Given the description of an element on the screen output the (x, y) to click on. 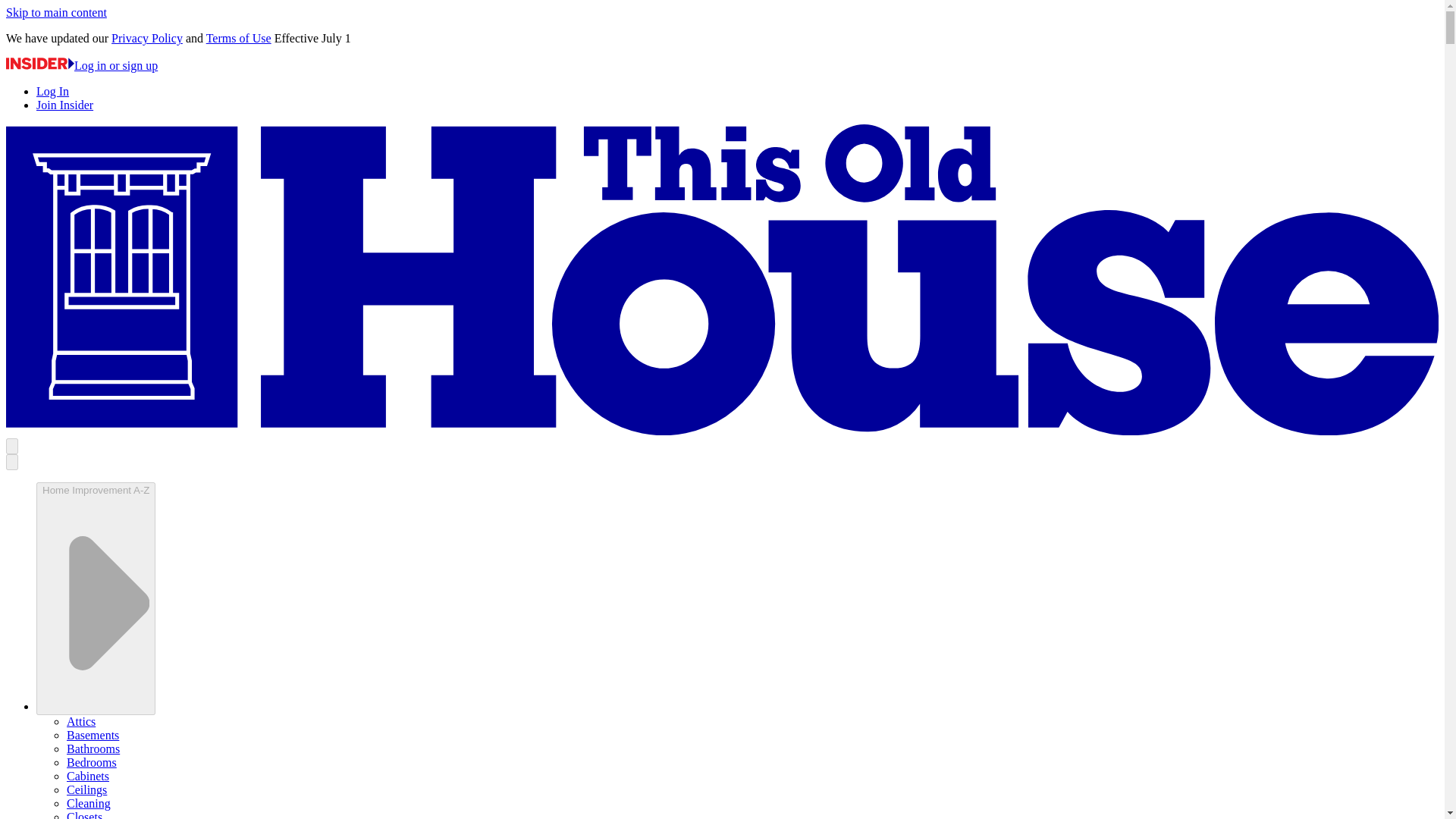
Closets (83, 814)
Basements (92, 735)
Log in or sign up (81, 65)
Cabinets (87, 775)
Cleaning (88, 802)
Bathrooms (92, 748)
Join Insider (64, 104)
Terms of Use (238, 38)
Attics (81, 721)
Bedrooms (91, 762)
Privacy Policy (147, 38)
Skip to main content (55, 11)
Ceilings (86, 789)
Log In (52, 91)
